Given the description of an element on the screen output the (x, y) to click on. 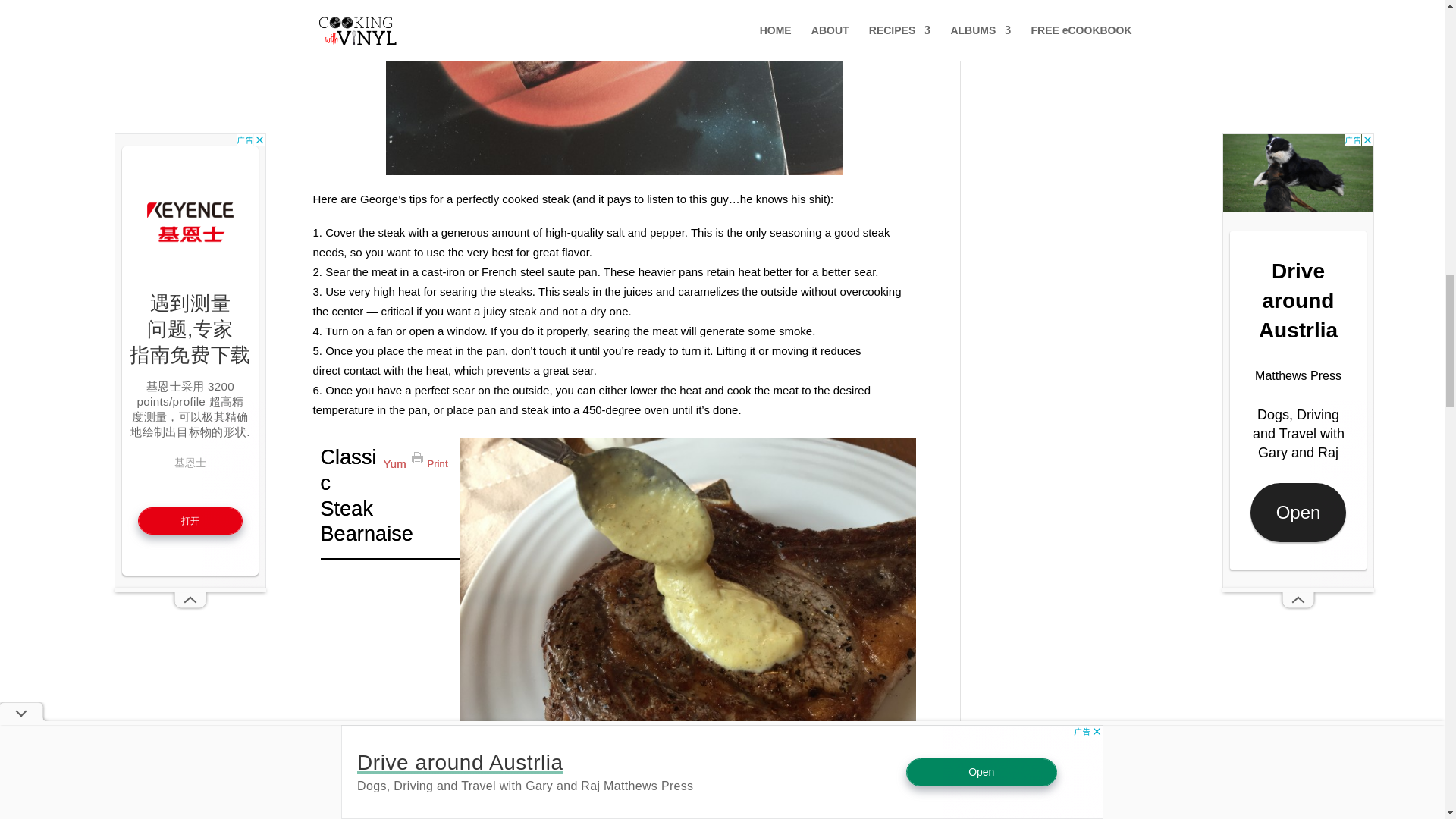
Print this recipe (429, 458)
